Given the description of an element on the screen output the (x, y) to click on. 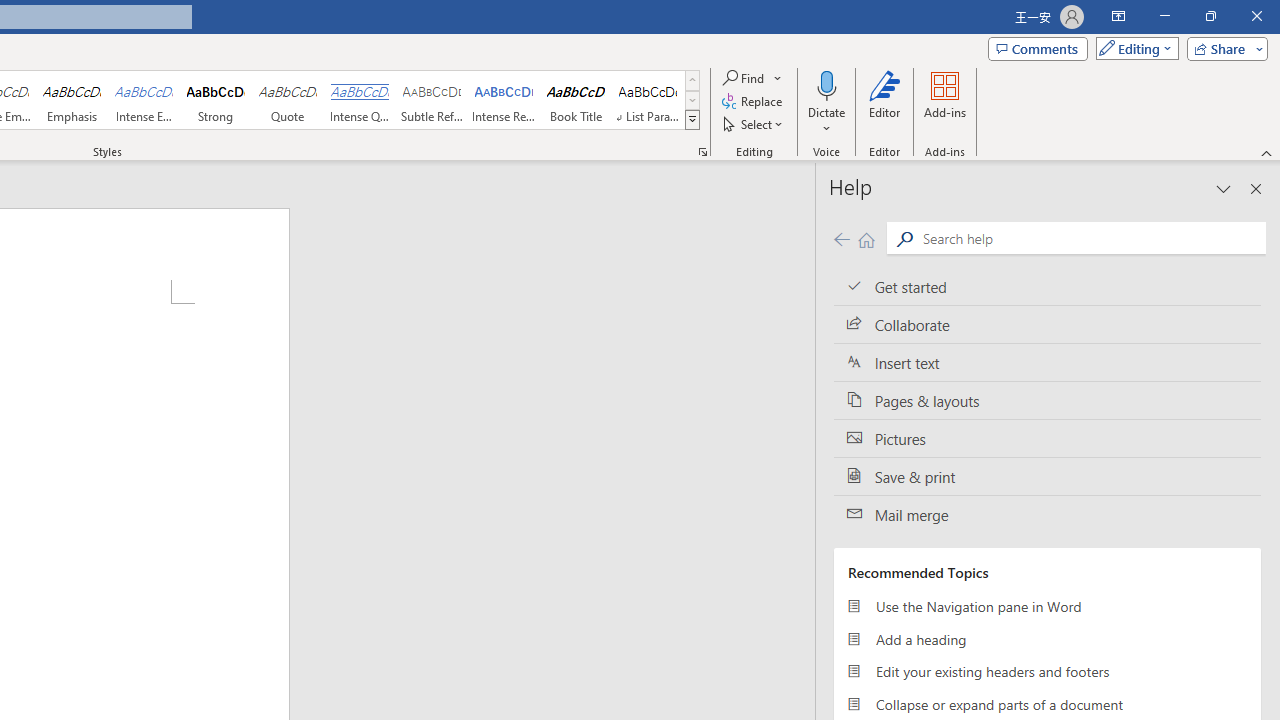
Replace... (753, 101)
Book Title (575, 100)
Emphasis (71, 100)
Close pane (1256, 188)
Edit your existing headers and footers (1047, 672)
Mode (1133, 47)
Styles... (702, 151)
